Given the description of an element on the screen output the (x, y) to click on. 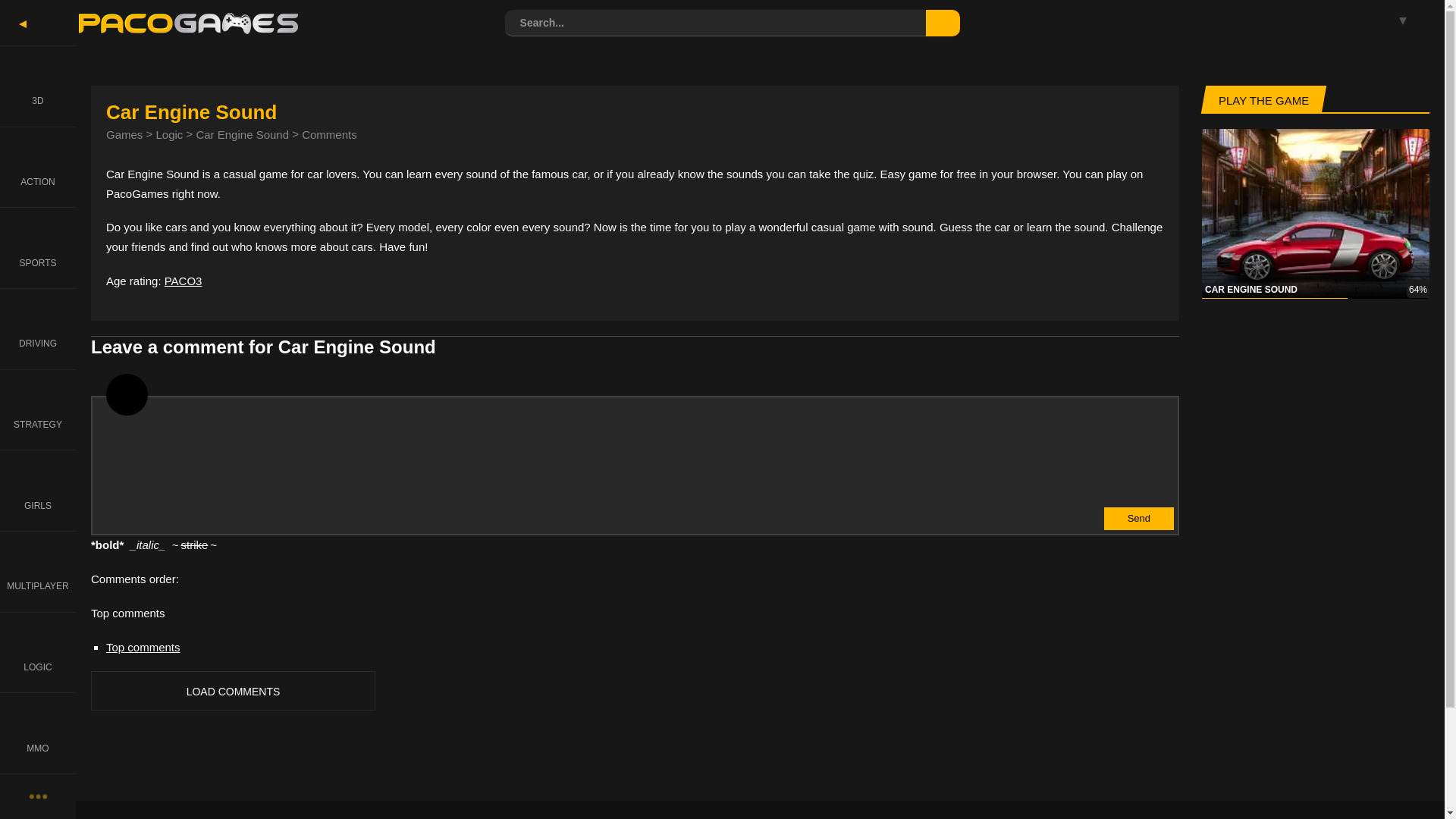
Comments (328, 133)
Strategy Games (37, 409)
SPORTS (37, 247)
Multiplayer Games (37, 570)
DRIVING (37, 328)
Action Games (37, 167)
LOGIC (37, 651)
GIRLS (37, 489)
MULTIPLAYER (37, 570)
Logic (169, 133)
